Given the description of an element on the screen output the (x, y) to click on. 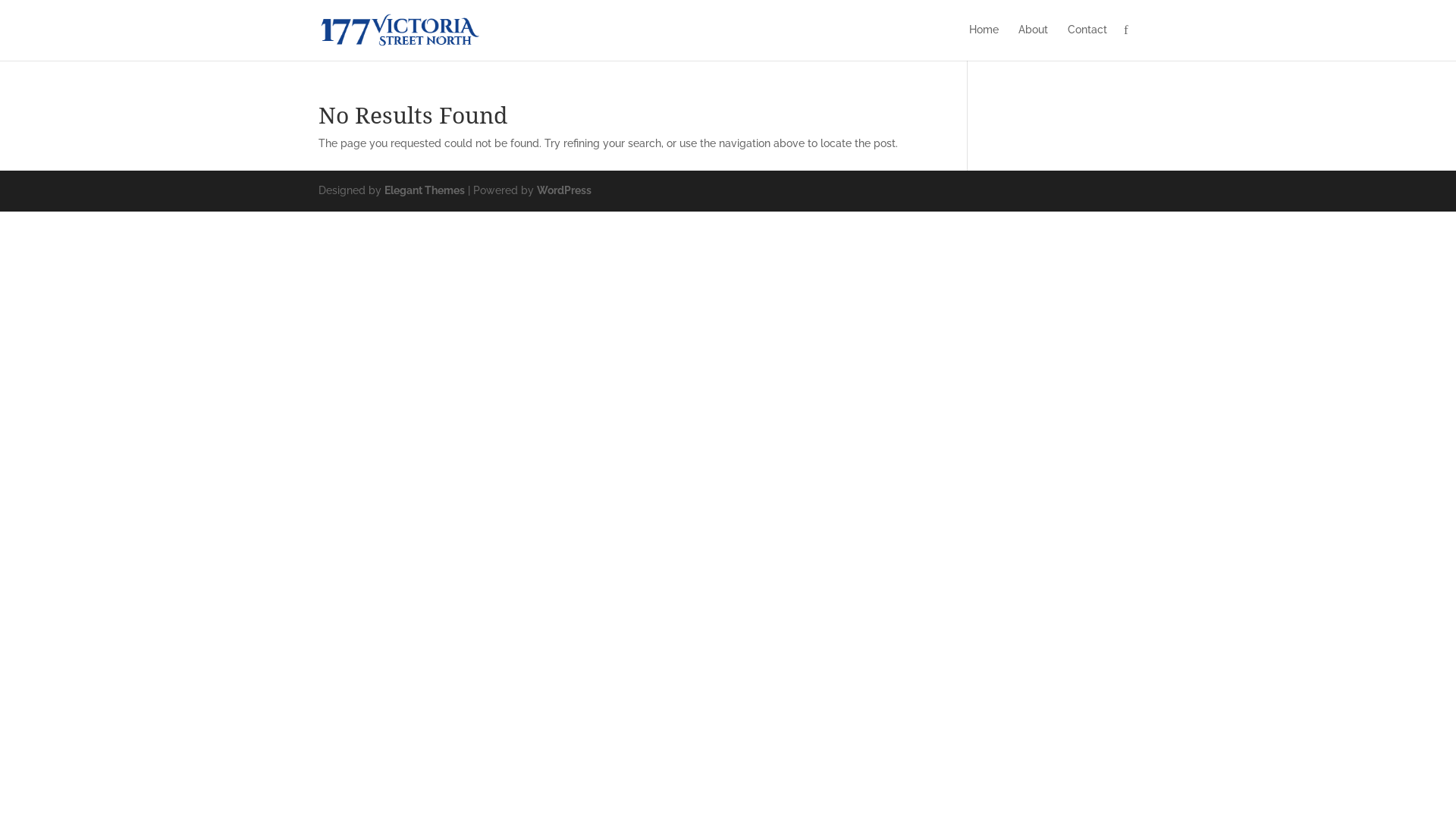
Home Element type: text (983, 40)
Contact Element type: text (1087, 40)
About Element type: text (1033, 40)
WordPress Element type: text (563, 190)
Elegant Themes Element type: text (424, 190)
